Given the description of an element on the screen output the (x, y) to click on. 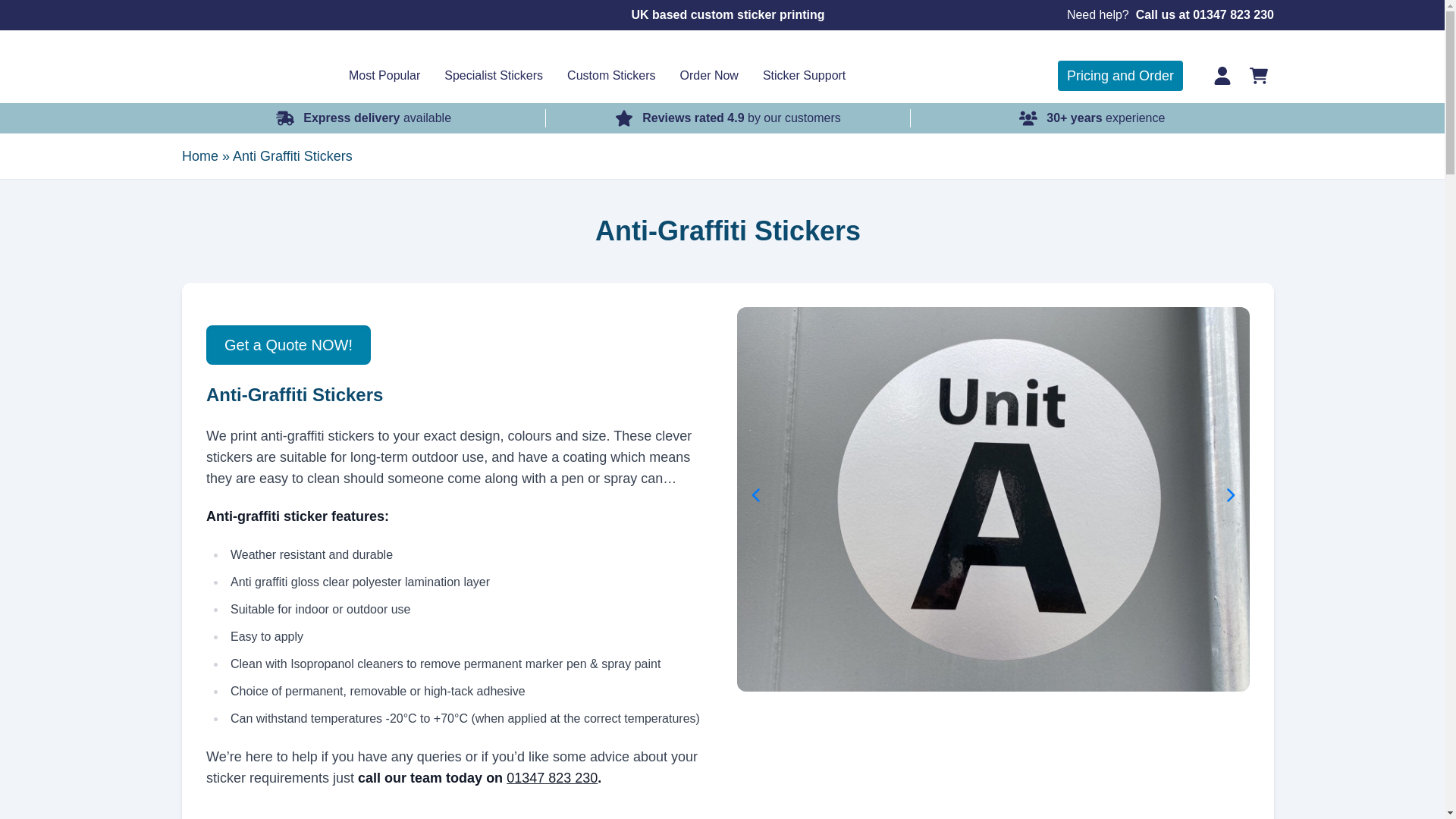
Home (235, 66)
Specialist Stickers (493, 75)
Shopping Cart (1258, 75)
Account (1222, 75)
Custom Stickers (610, 75)
Call us at 01347 823 230 (1204, 14)
Most Popular (384, 75)
